Given the description of an element on the screen output the (x, y) to click on. 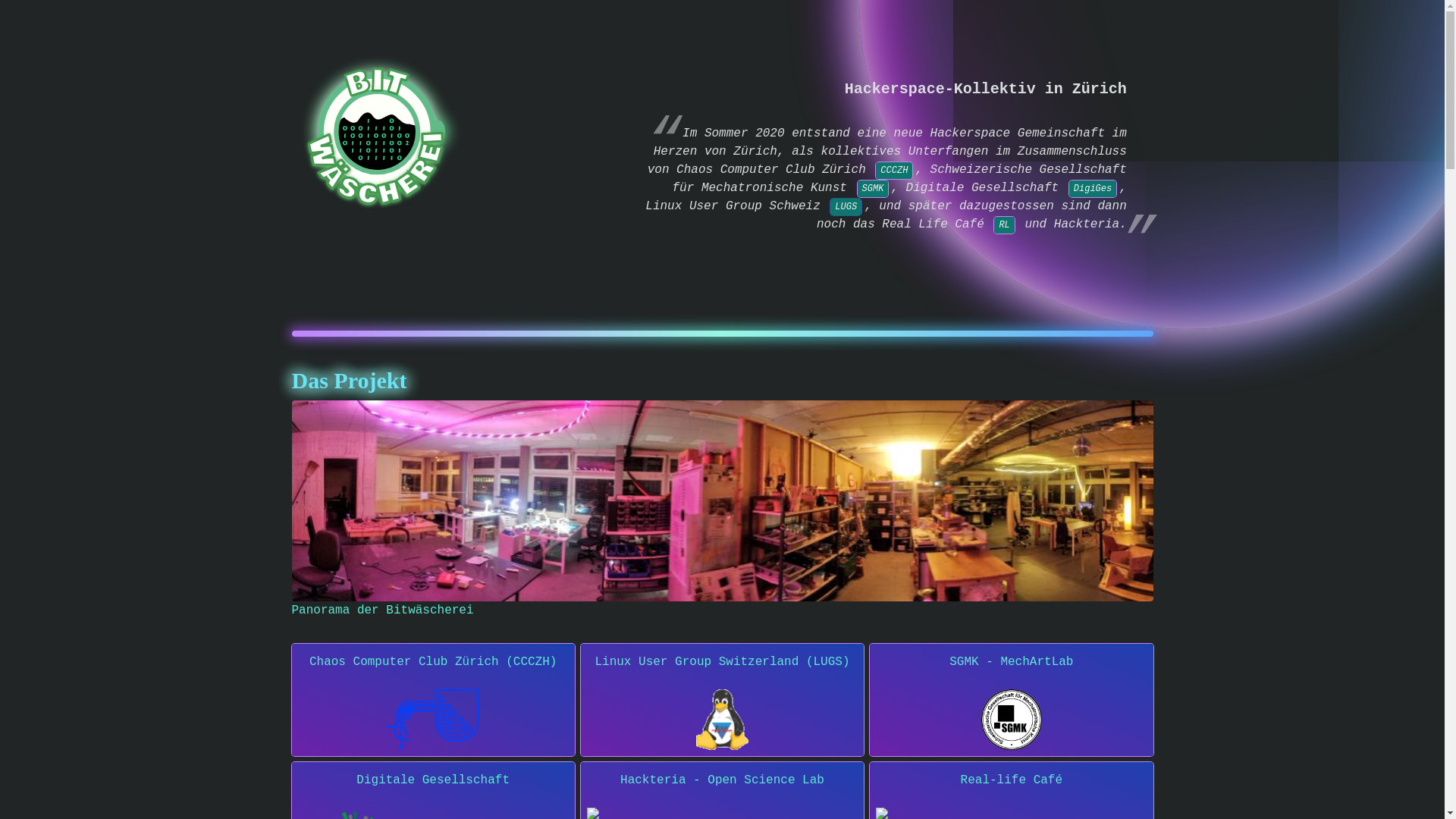
Linux User Group Switzerland (LUGS) Element type: text (721, 699)
SGMK - MechArtLab Element type: text (1010, 699)
